Given the description of an element on the screen output the (x, y) to click on. 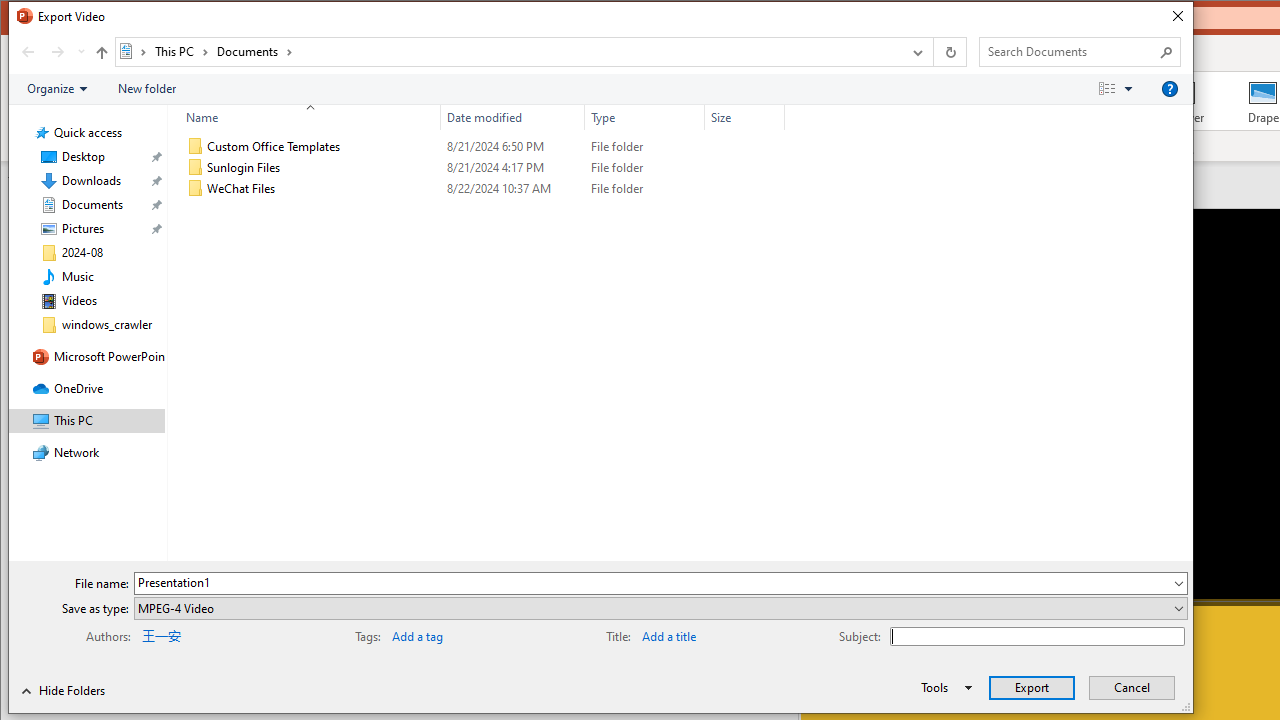
Recent locations (80, 51)
Type (644, 117)
Title (705, 634)
Size (744, 117)
Date modified (512, 188)
Filter dropdown (776, 117)
Organize (56, 89)
Cancel (1132, 688)
File name: (660, 582)
Navigation buttons (50, 51)
Tools (943, 687)
WeChat Files (481, 188)
View Slider (1128, 89)
Date modified (512, 117)
